Given the description of an element on the screen output the (x, y) to click on. 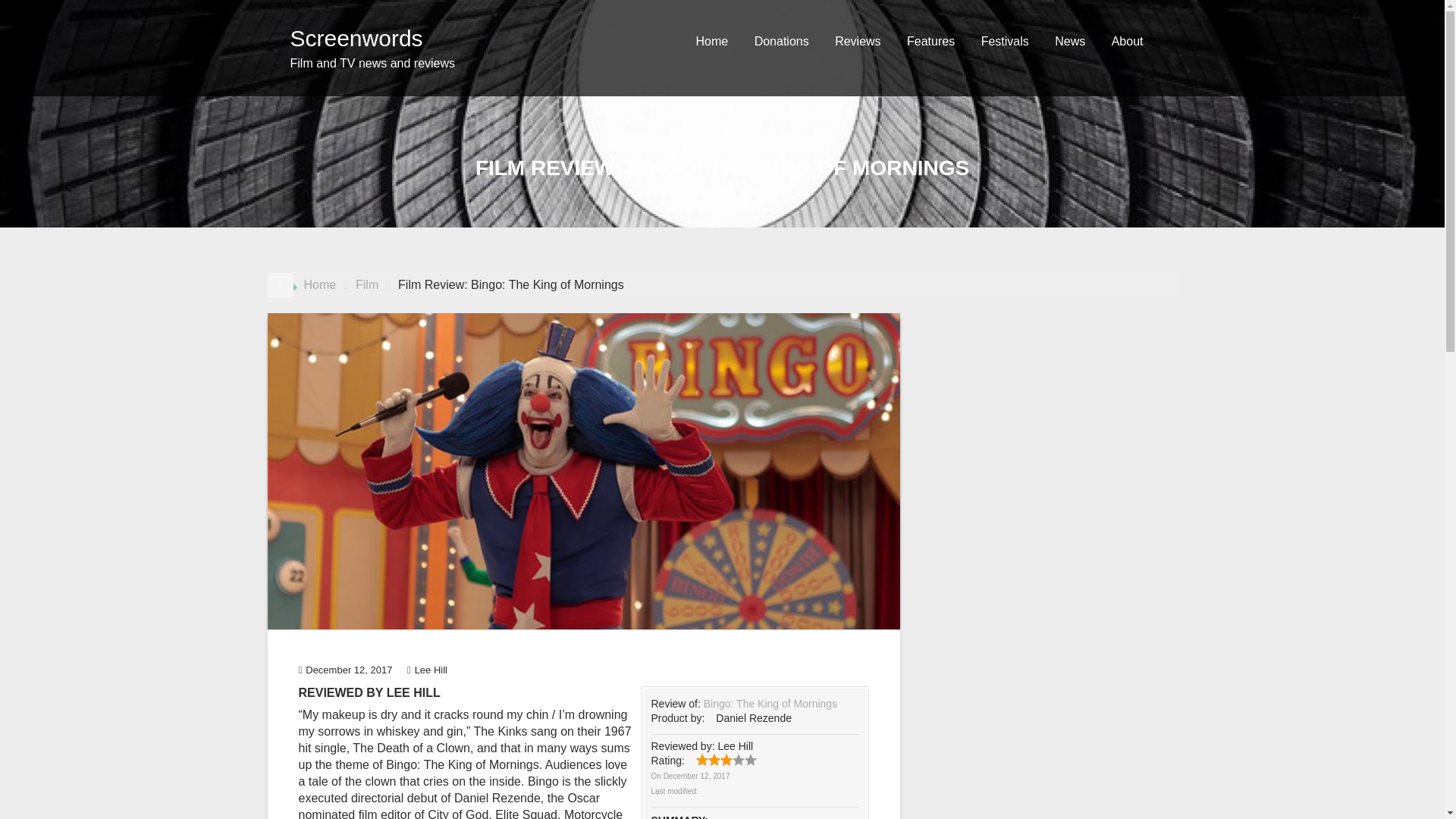
Features (930, 41)
Lee Hill (426, 669)
Film (366, 285)
Reviews (857, 41)
News (1069, 41)
Donations (781, 41)
About (1127, 41)
Screenwords (355, 37)
Bingo: The King of Mornings (770, 703)
Home (711, 41)
December 12, 2017 (345, 669)
3 (713, 759)
Festivals (1005, 41)
December 12, 2017 (696, 776)
Screenwords (355, 37)
